Given the description of an element on the screen output the (x, y) to click on. 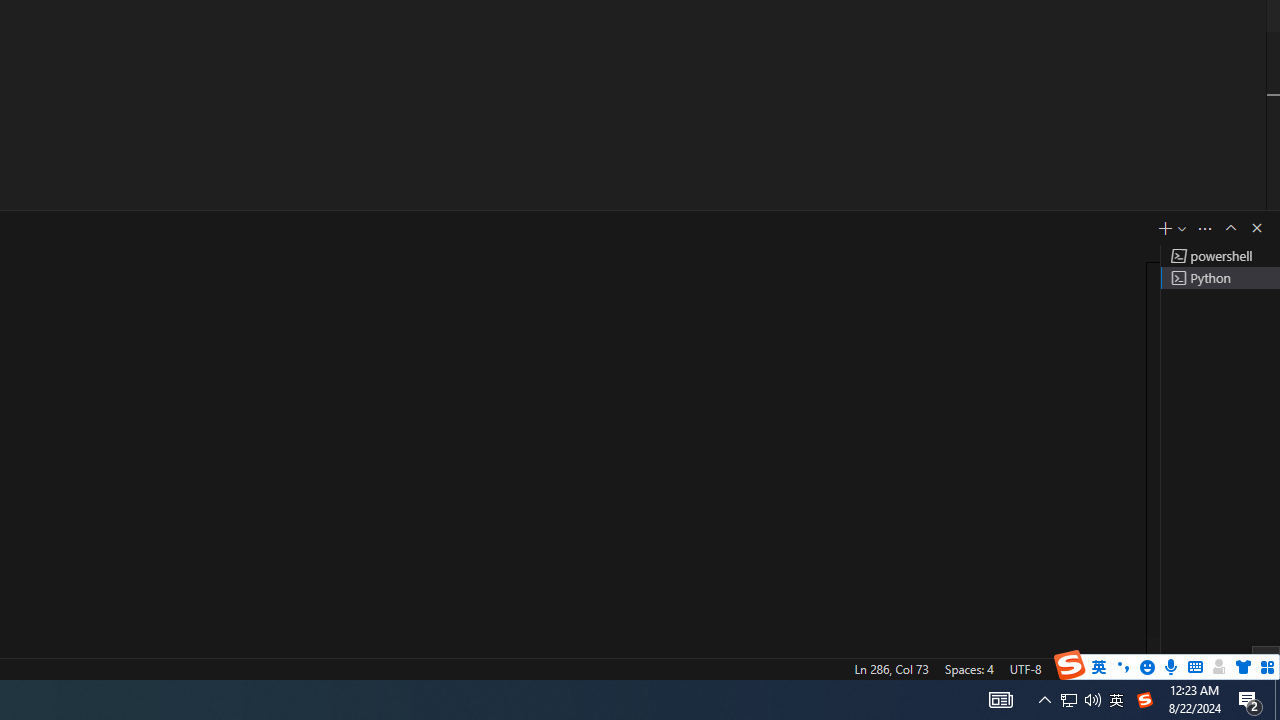
UTF-8 (1025, 668)
